Given the description of an element on the screen output the (x, y) to click on. 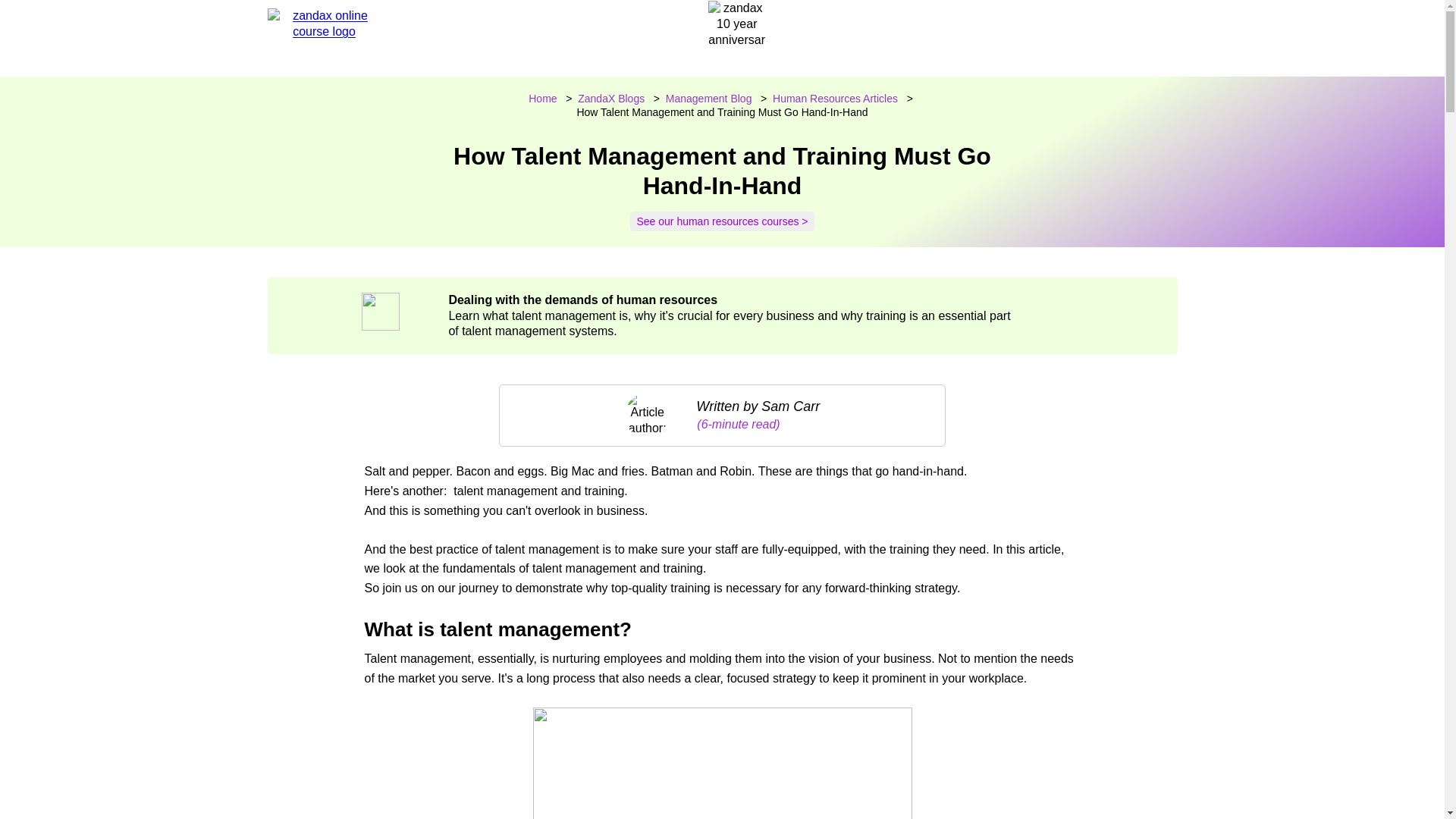
Human Resources Articles (835, 98)
ZandaX Blogs (611, 98)
Management Blog (708, 98)
Home (542, 98)
